Given the description of an element on the screen output the (x, y) to click on. 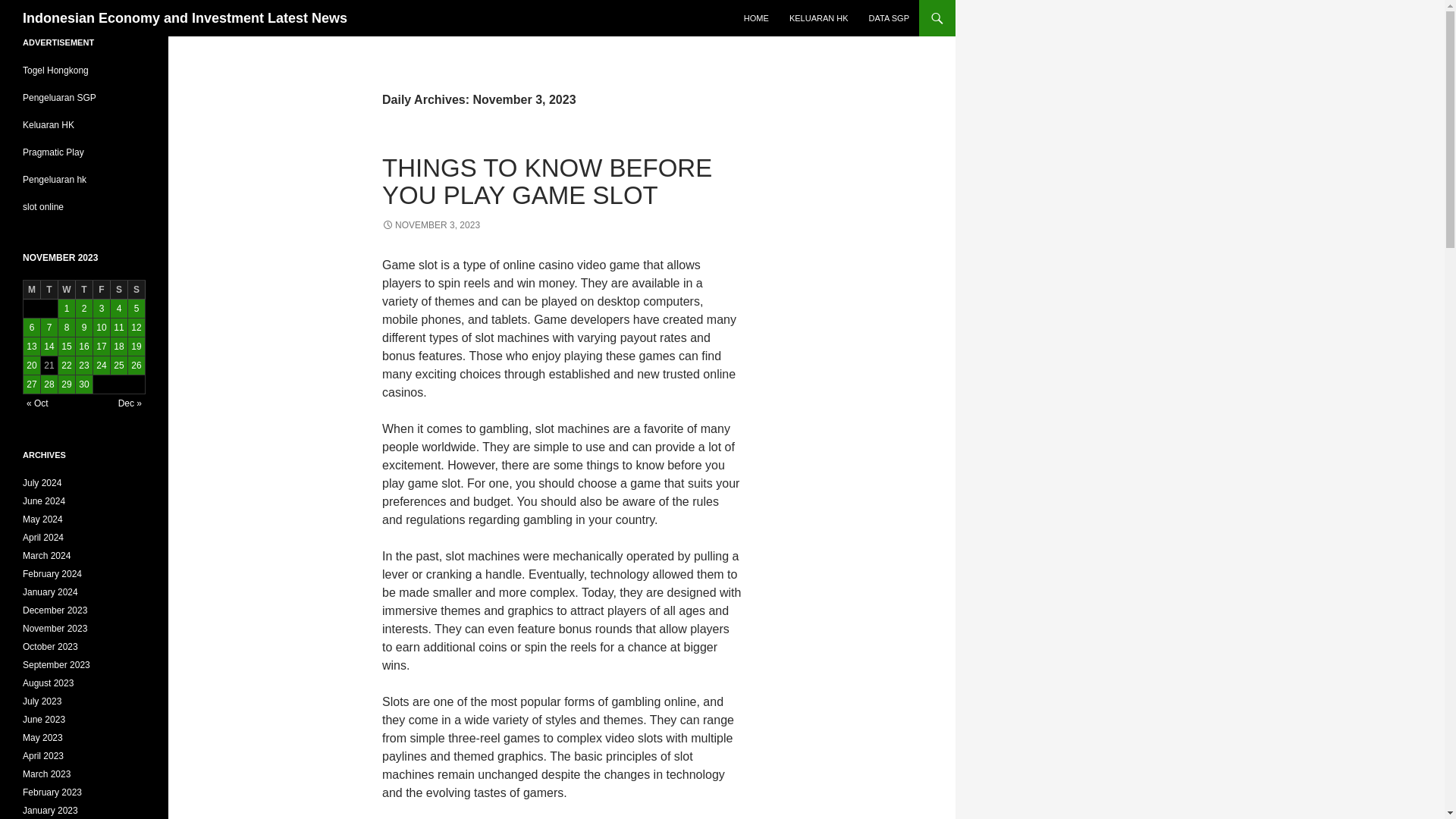
Pengeluaran SGP (59, 97)
slot online (43, 206)
12 (136, 327)
Tuesday (49, 289)
6 (31, 327)
9 (84, 327)
Togel Hongkong (55, 70)
7 (49, 327)
NOVEMBER 3, 2023 (430, 225)
Monday (31, 289)
18 (119, 346)
17 (101, 346)
DATA SGP (889, 18)
19 (136, 346)
Thursday (84, 289)
